Given the description of an element on the screen output the (x, y) to click on. 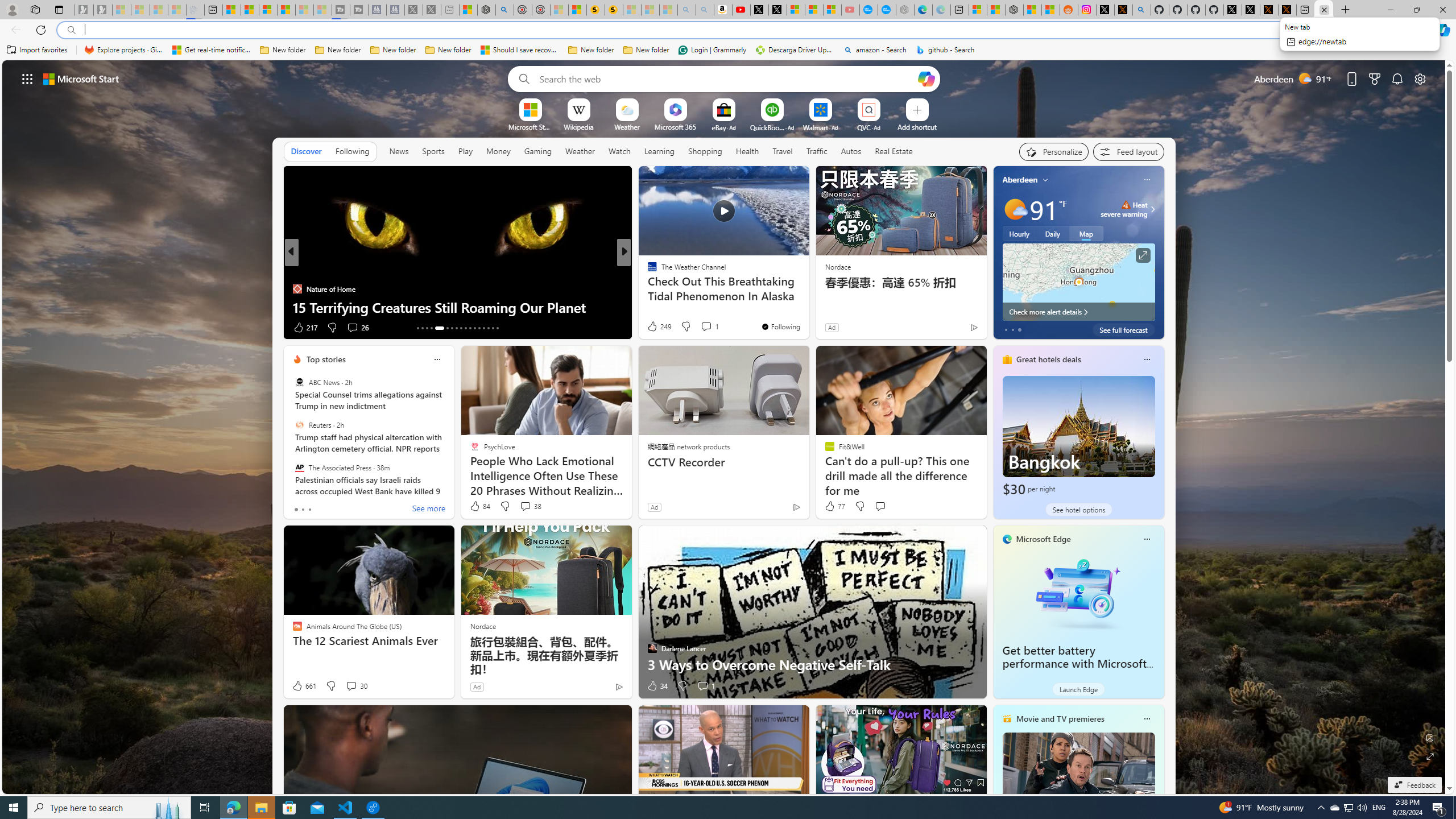
Class: weather-arrow-glyph (1152, 208)
AutomationID: tab-24 (474, 328)
X Privacy Policy (1287, 9)
New folder (646, 49)
Shopping (705, 151)
Overview (268, 9)
CBS News (647, 270)
Shanghai, China Weather trends | Microsoft Weather (1050, 9)
The Associated Press (299, 466)
